Given the description of an element on the screen output the (x, y) to click on. 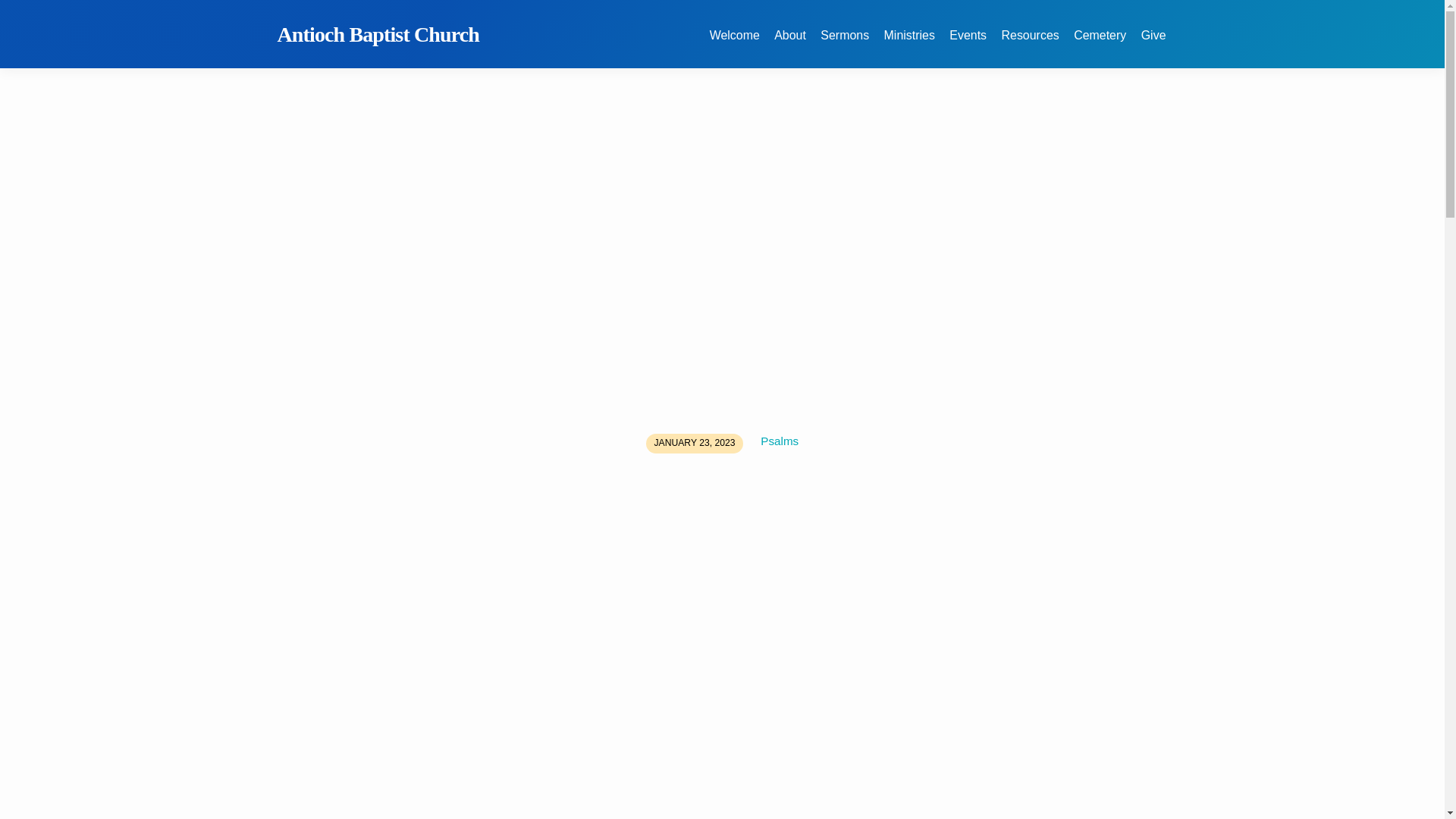
Antioch Baptist Church (379, 33)
Events (968, 44)
Sermons (845, 44)
Psalms (778, 440)
Cemetery (1099, 44)
Ministries (908, 44)
Resources (1030, 44)
Welcome (735, 44)
